Given the description of an element on the screen output the (x, y) to click on. 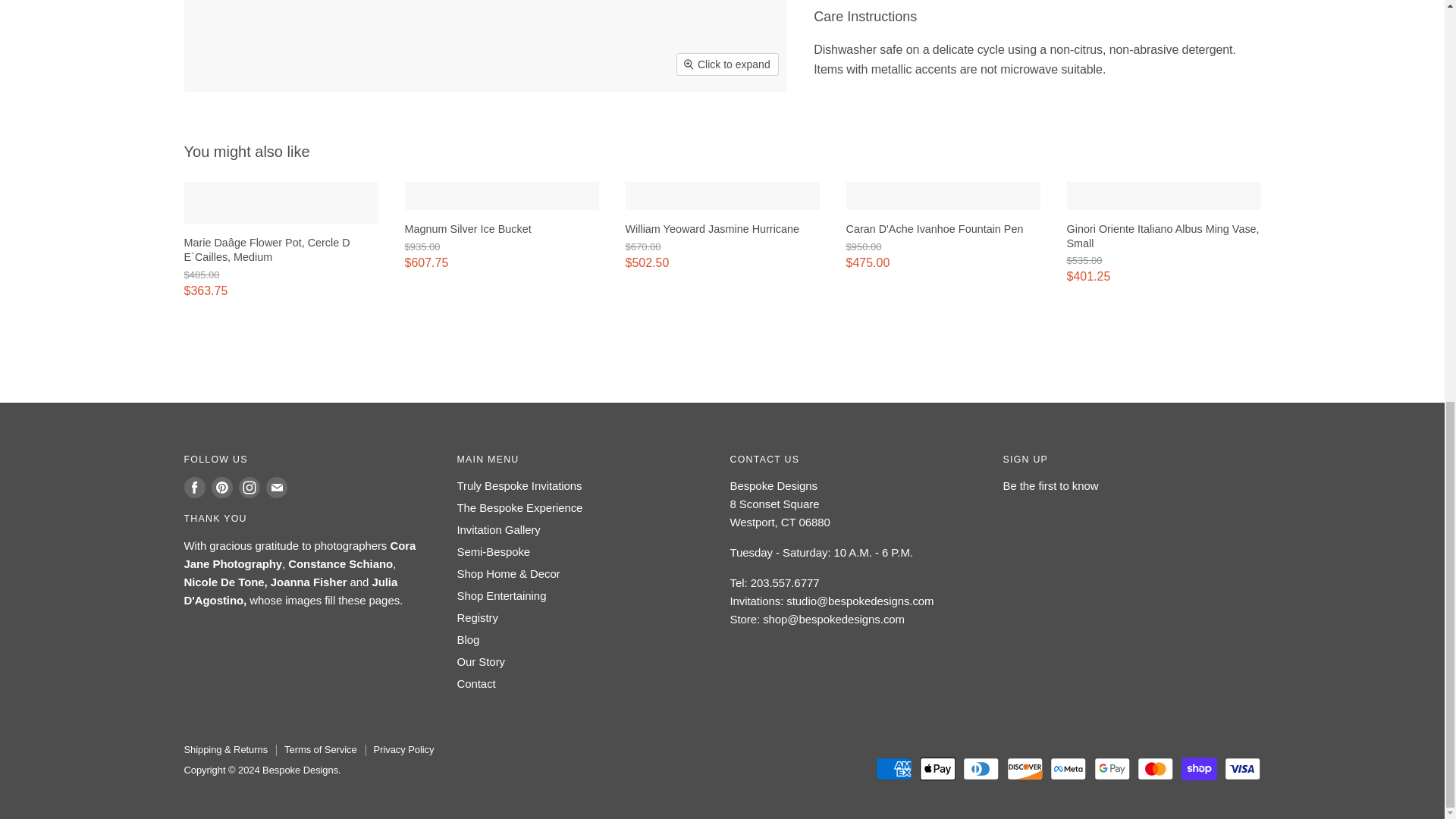
tel:2035576777 (785, 582)
Pinterest (221, 487)
E-mail (275, 487)
Facebook (194, 487)
Instagram (248, 487)
